Given the description of an element on the screen output the (x, y) to click on. 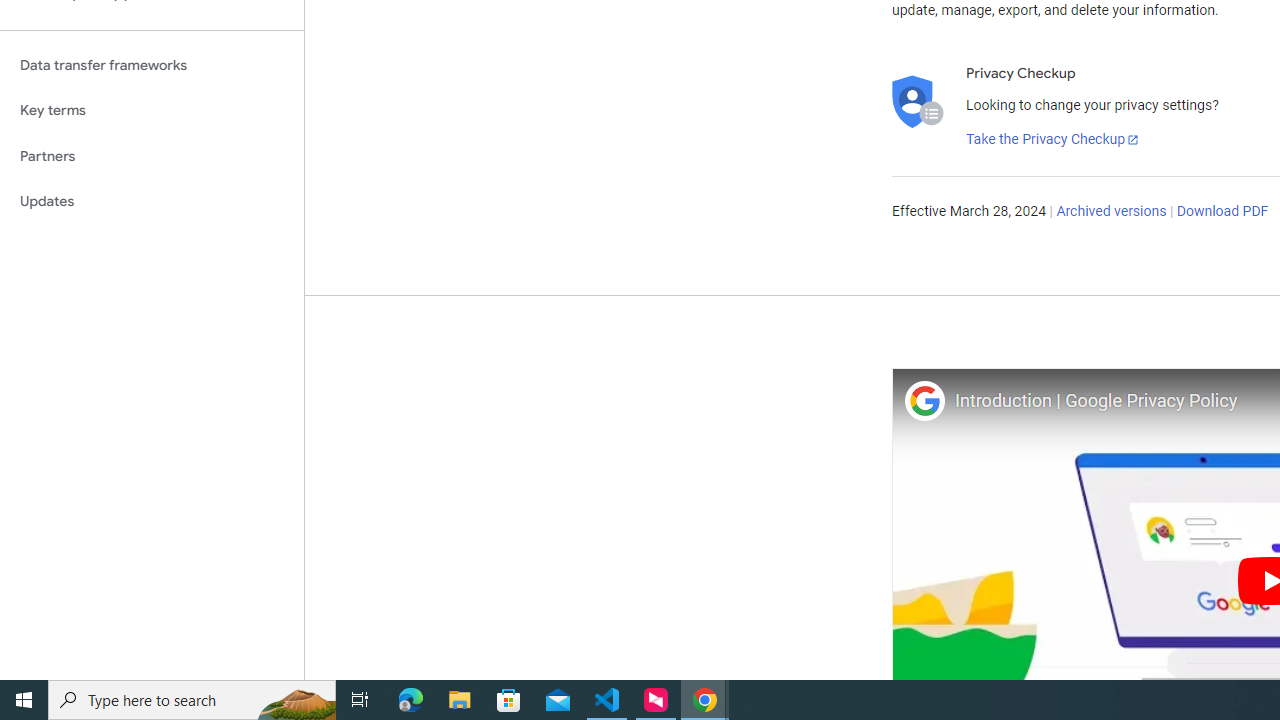
Archived versions (1111, 212)
Take the Privacy Checkup (1053, 140)
Data transfer frameworks (152, 65)
Photo image of Google (924, 400)
Key terms (152, 110)
Partners (152, 156)
Download PDF (1222, 212)
